Given the description of an element on the screen output the (x, y) to click on. 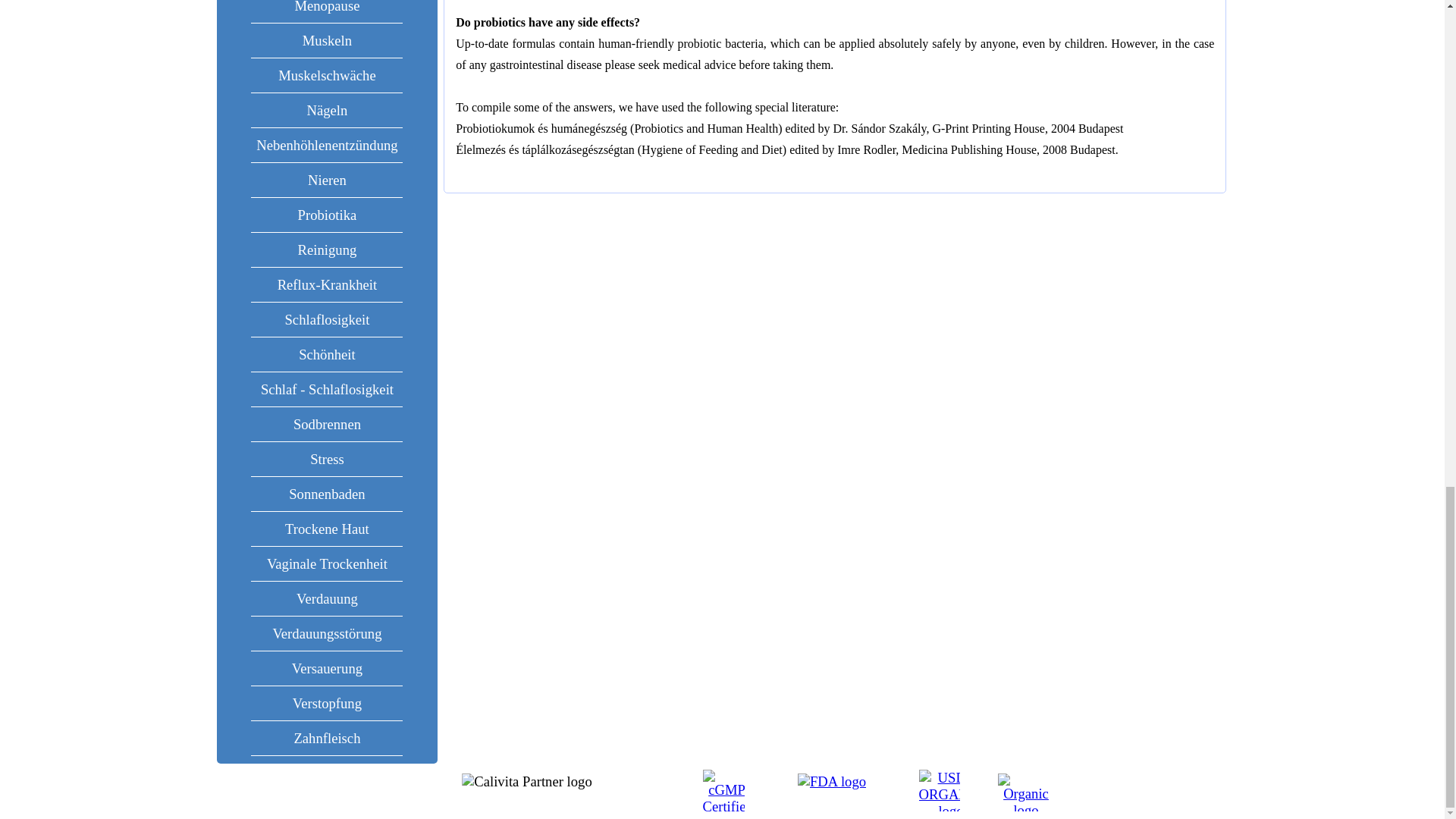
FDA logo (831, 781)
Calivita Partner logo (526, 781)
